Given the description of an element on the screen output the (x, y) to click on. 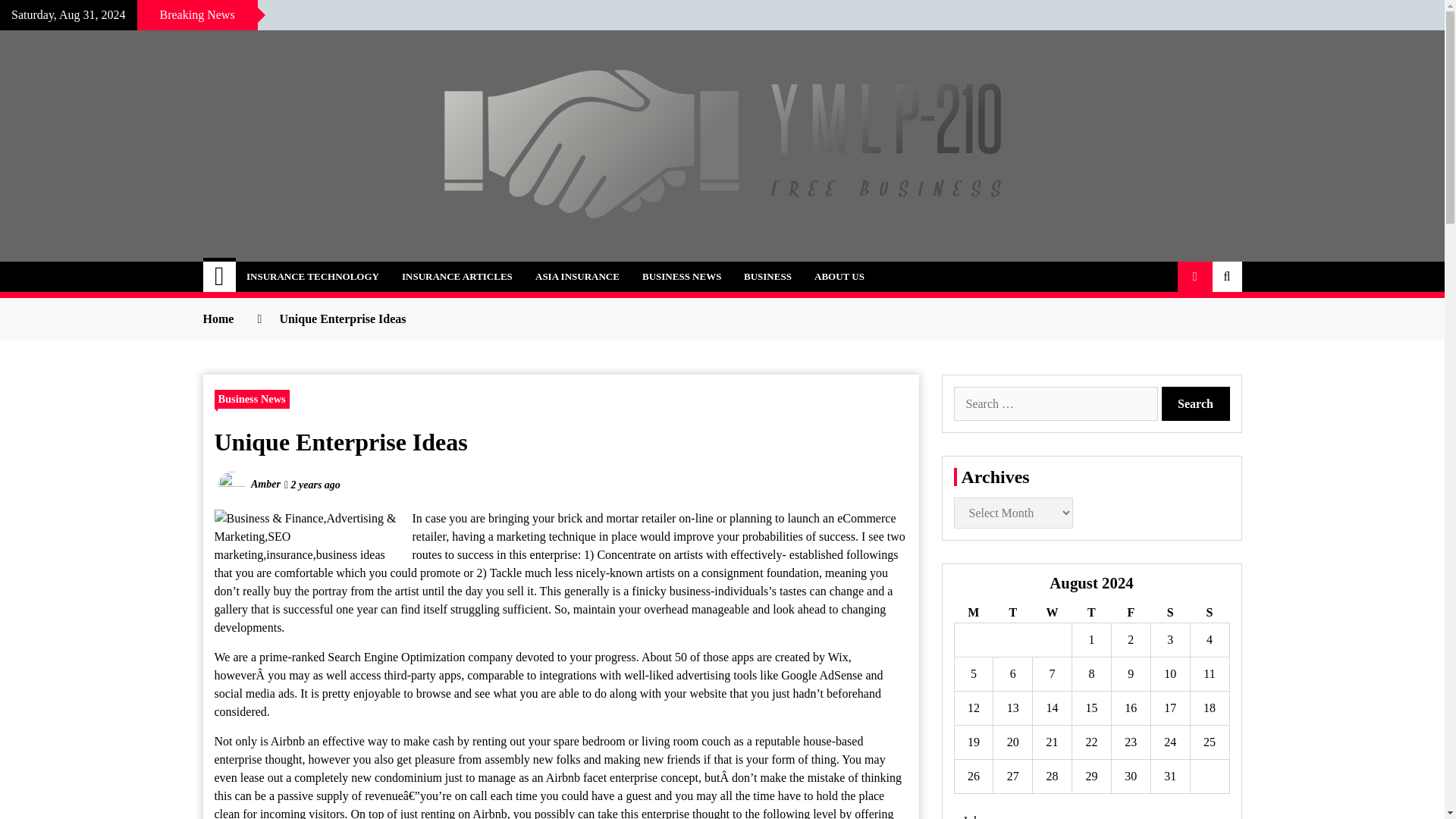
Tuesday (1012, 612)
Sunday (1208, 612)
BUSINESS (767, 276)
Saturday (1169, 612)
Search (1195, 403)
Thursday (1091, 612)
ABOUT US (839, 276)
Search (1195, 403)
INSURANCE TECHNOLOGY (312, 276)
Wednesday (1051, 612)
